Given the description of an element on the screen output the (x, y) to click on. 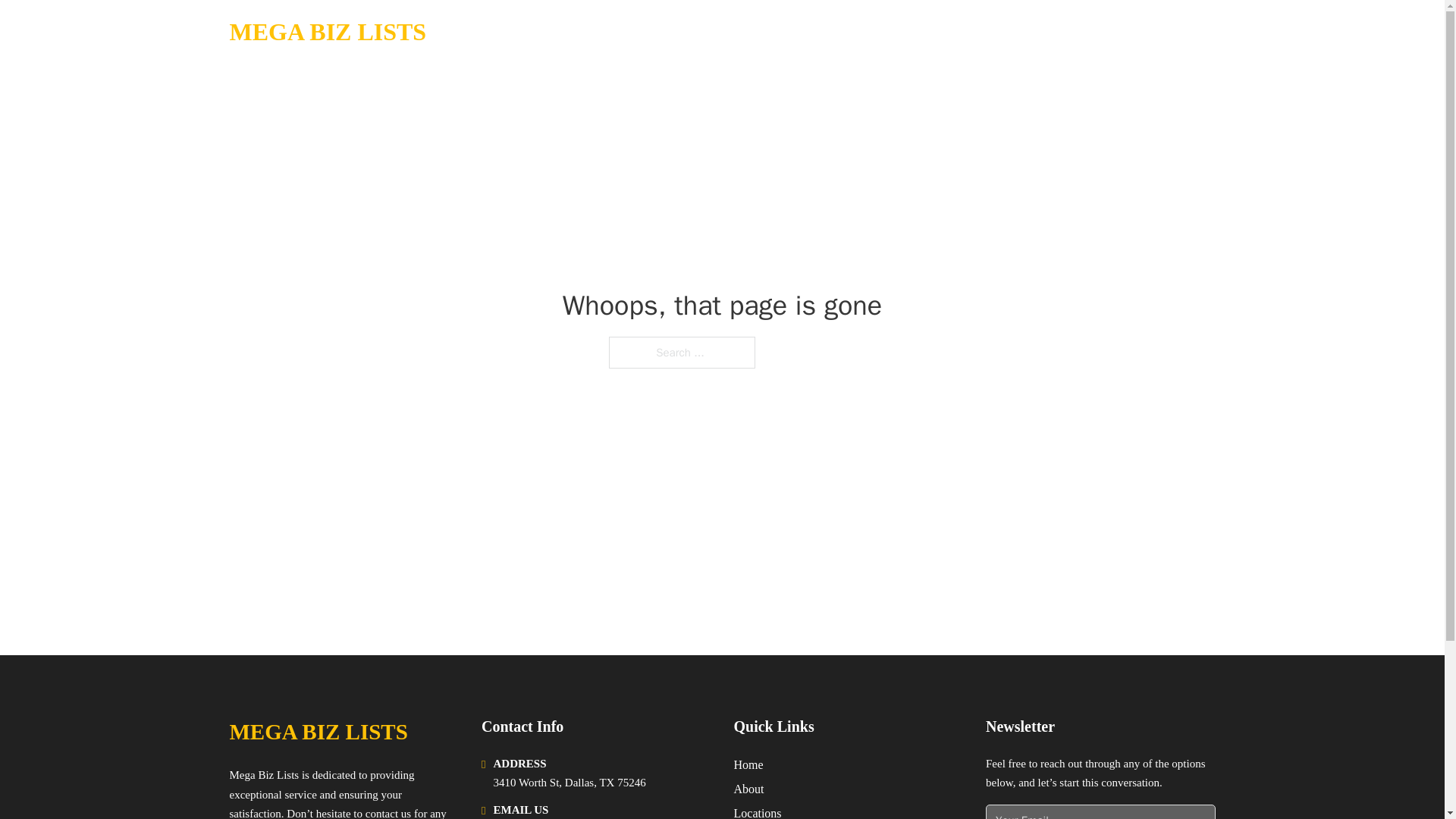
LOCATIONS (1098, 31)
HOME (1025, 31)
MEGA BIZ LISTS (317, 732)
Locations (757, 811)
About (748, 788)
MEGA BIZ LISTS (327, 31)
Home (747, 764)
